Given the description of an element on the screen output the (x, y) to click on. 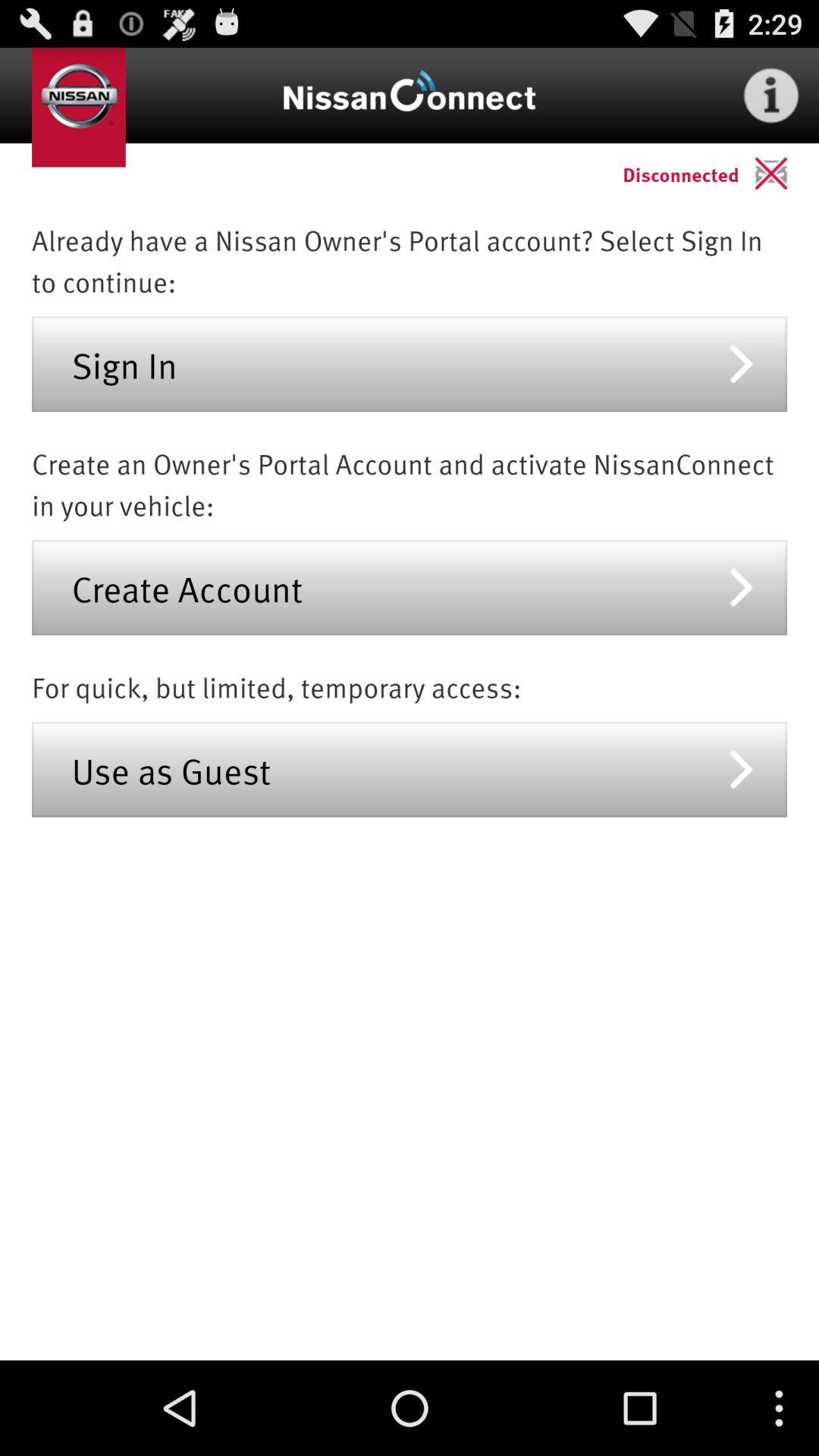
choose icon above disconnected (771, 95)
